Given the description of an element on the screen output the (x, y) to click on. 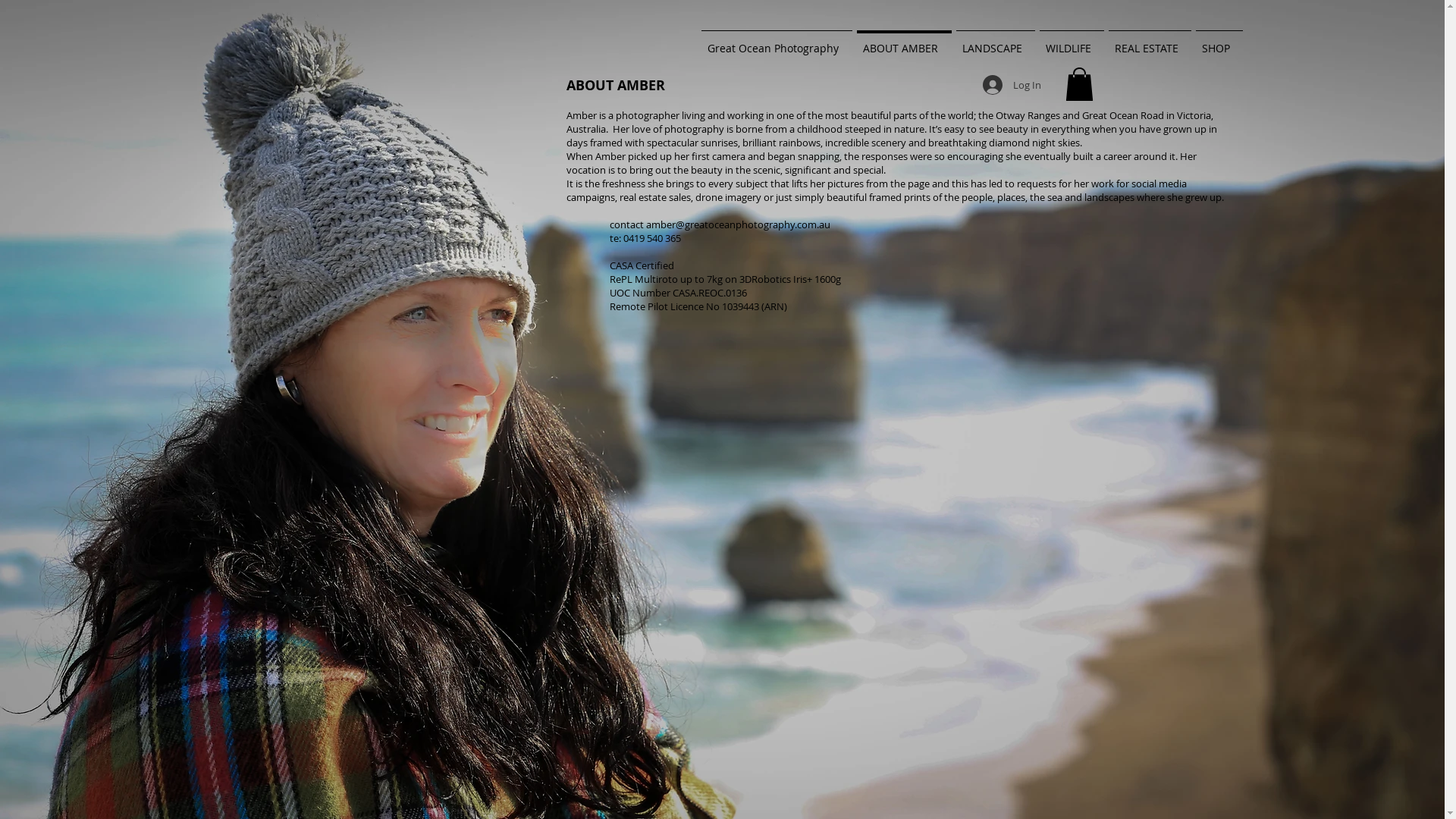
0 Element type: text (1078, 83)
Log In Element type: text (1011, 84)
Great Ocean Photography Element type: text (776, 41)
amber@greatoceanphotography.com.au Element type: text (738, 224)
ABOUT AMBER Element type: text (903, 41)
WILDLIFE Element type: text (1071, 41)
REAL ESTATE Element type: text (1148, 41)
LANDSCAPE Element type: text (995, 41)
SHOP Element type: text (1219, 41)
